Given the description of an element on the screen output the (x, y) to click on. 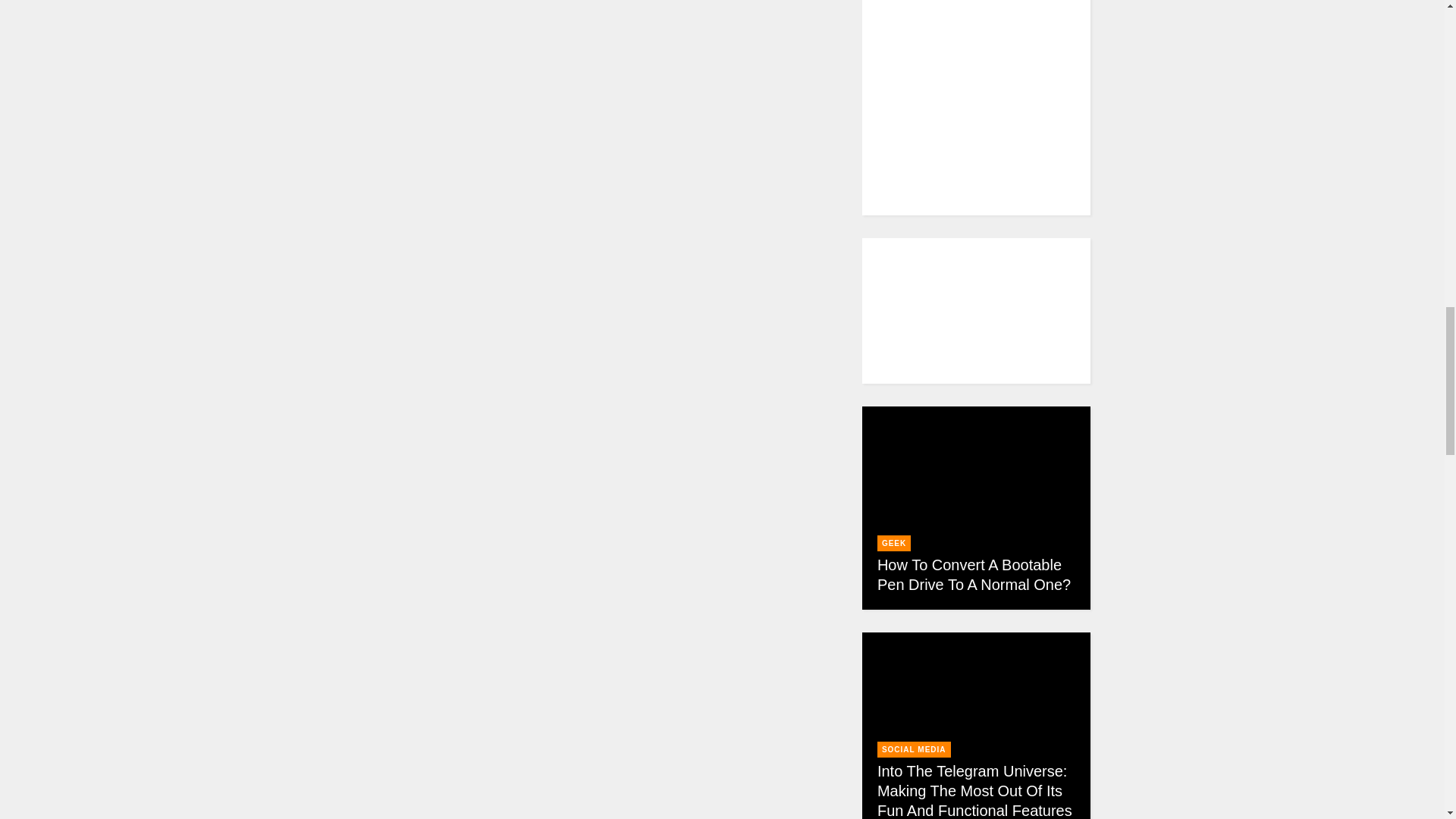
EX1 Circuit Board Printer (596, 711)
EX1 Circuit Board Printer (596, 451)
